Given the description of an element on the screen output the (x, y) to click on. 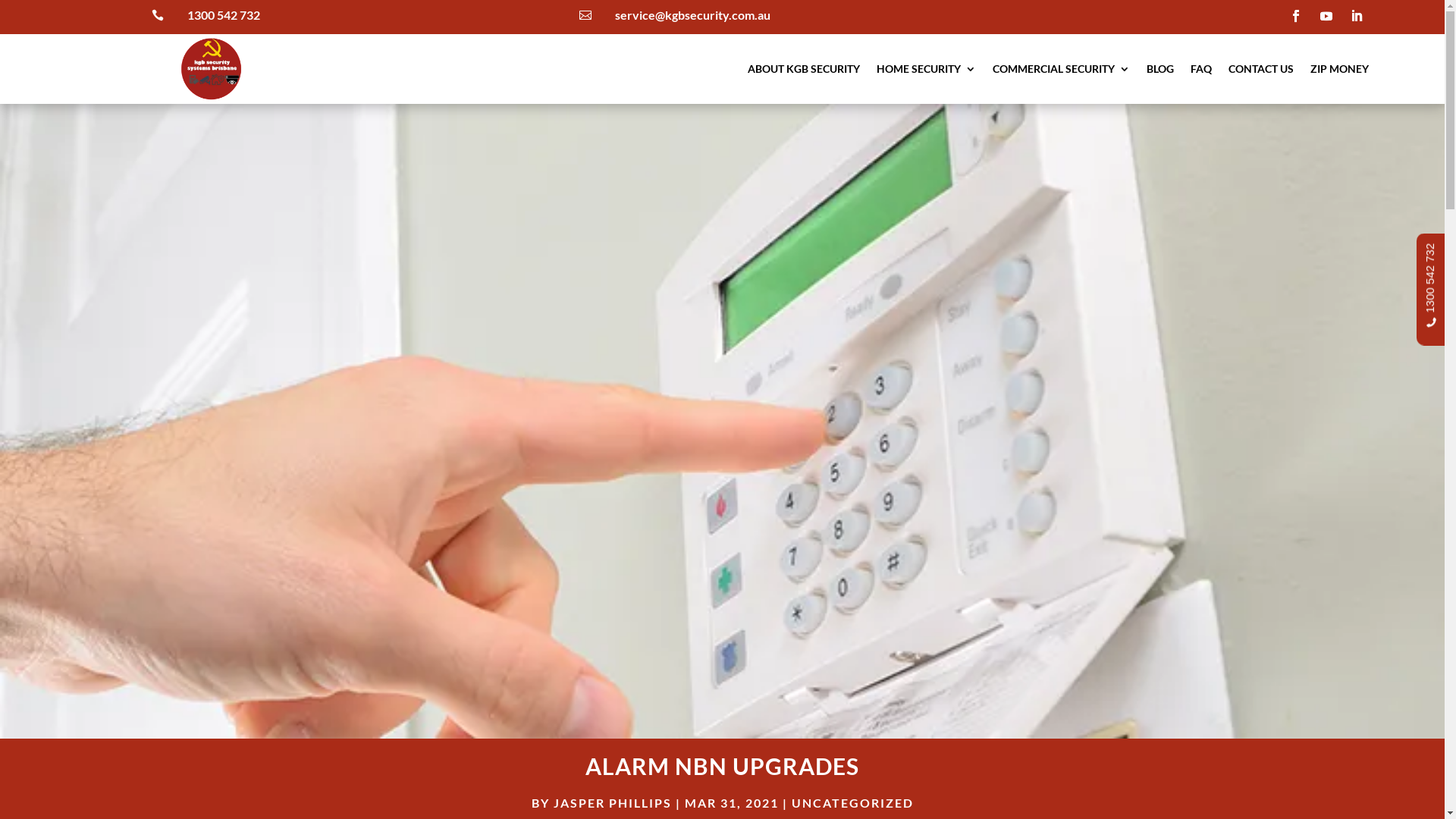
security-system Element type: hover (722, 420)
1300 542 732 Element type: text (223, 14)
BLOG Element type: text (1159, 71)
COMMERCIAL SECURITY Element type: text (1060, 71)
ABOUT KGB SECURITY Element type: text (803, 71)
FAQ Element type: text (1200, 71)
UNCATEGORIZED Element type: text (852, 802)
CONTACT US Element type: text (1260, 71)
service@kgbsecurity.com.au Element type: text (692, 14)
JASPER PHILLIPS Element type: text (612, 802)
ZIP MONEY Element type: text (1339, 71)
HOME SECURITY Element type: text (925, 71)
kgbssretinalogo Element type: hover (210, 68)
Follow on Youtube Element type: hover (1326, 15)
Follow on LinkedIn Element type: hover (1356, 15)
Follow on Facebook Element type: hover (1295, 15)
